Given the description of an element on the screen output the (x, y) to click on. 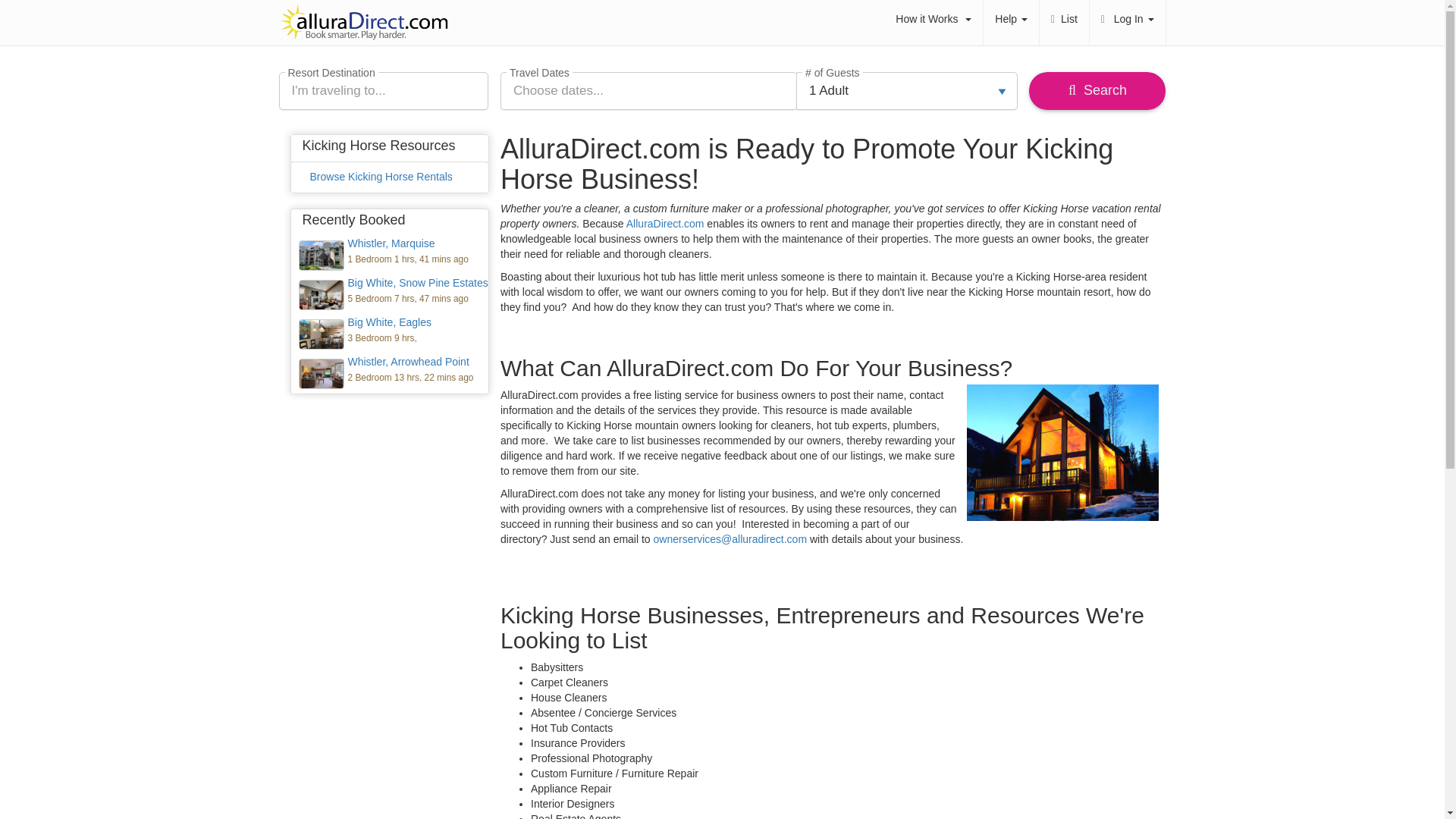
Marquise (320, 257)
alluraDirect.com Vacation Rentals (365, 22)
  Search (1097, 90)
Kitchen and Dining area (390, 333)
List (1064, 18)
Kicking Horse Resources (377, 145)
Living Room (390, 373)
How it Works   (932, 18)
Marquise (390, 255)
